Given the description of an element on the screen output the (x, y) to click on. 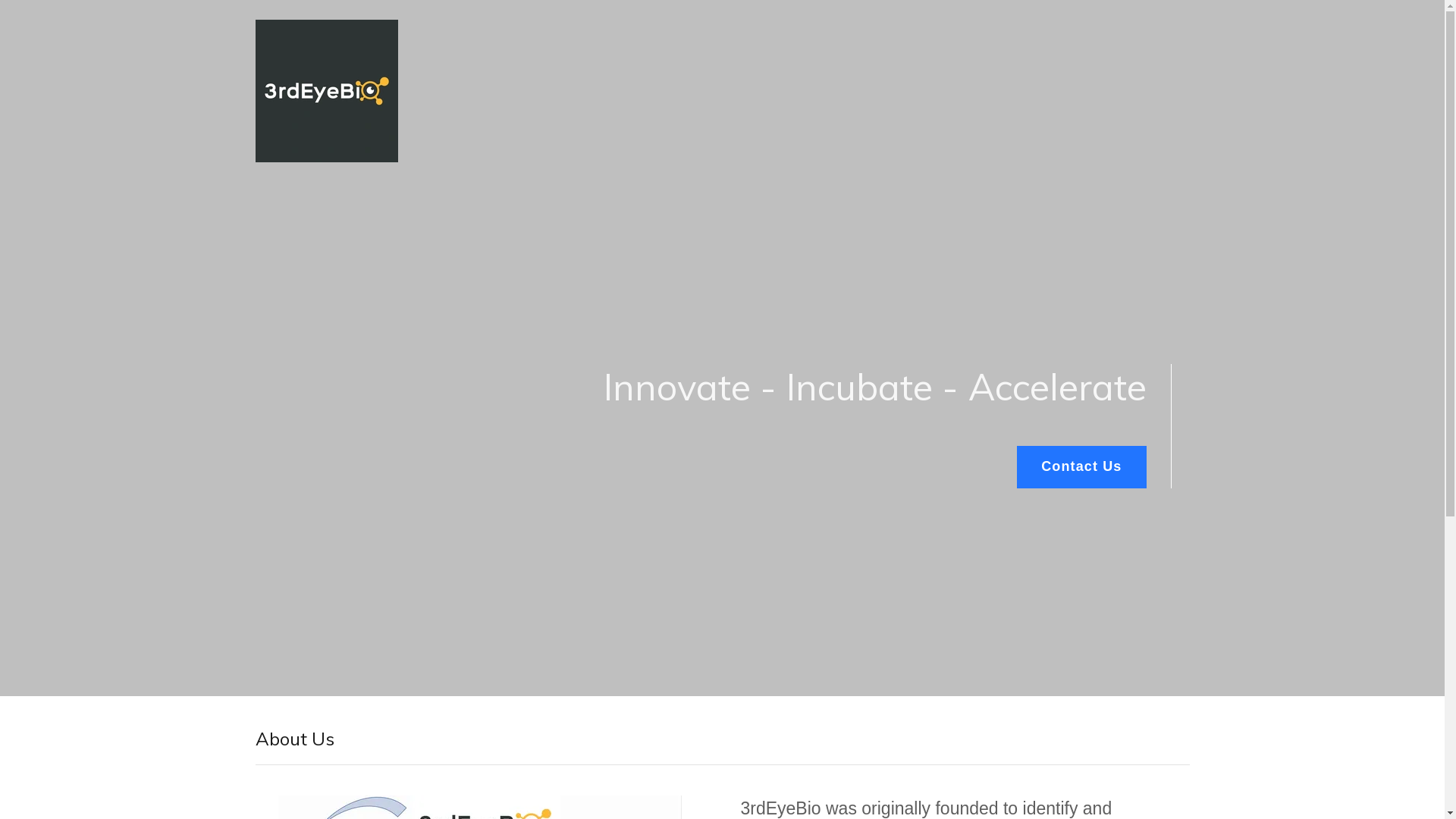
3rdEyeBio Element type: hover (325, 26)
Contact Us Element type: text (1080, 466)
